Given the description of an element on the screen output the (x, y) to click on. 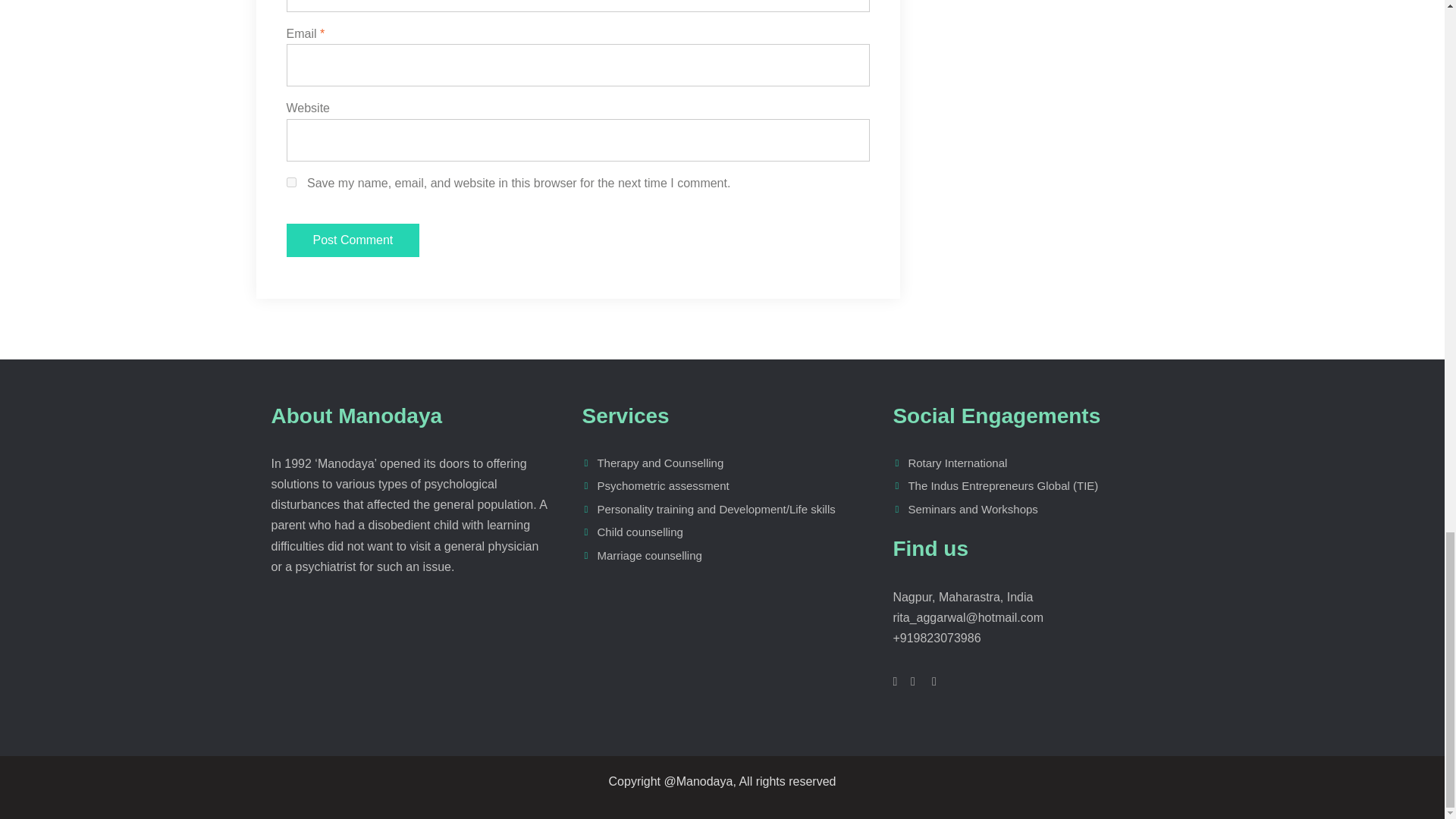
yes (291, 182)
Post Comment (353, 240)
